Given the description of an element on the screen output the (x, y) to click on. 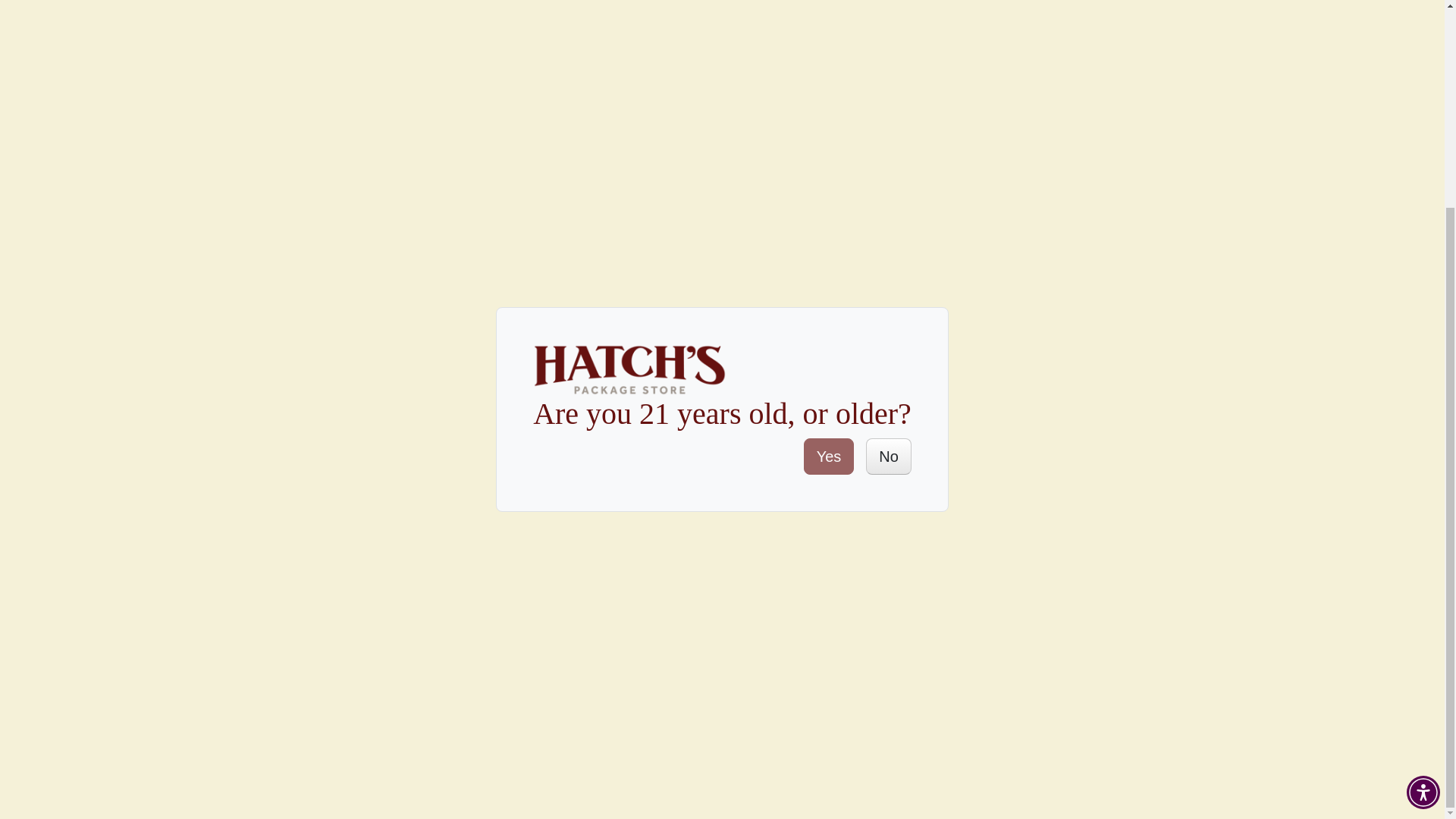
Accessibility Menu (1422, 524)
